Given the description of an element on the screen output the (x, y) to click on. 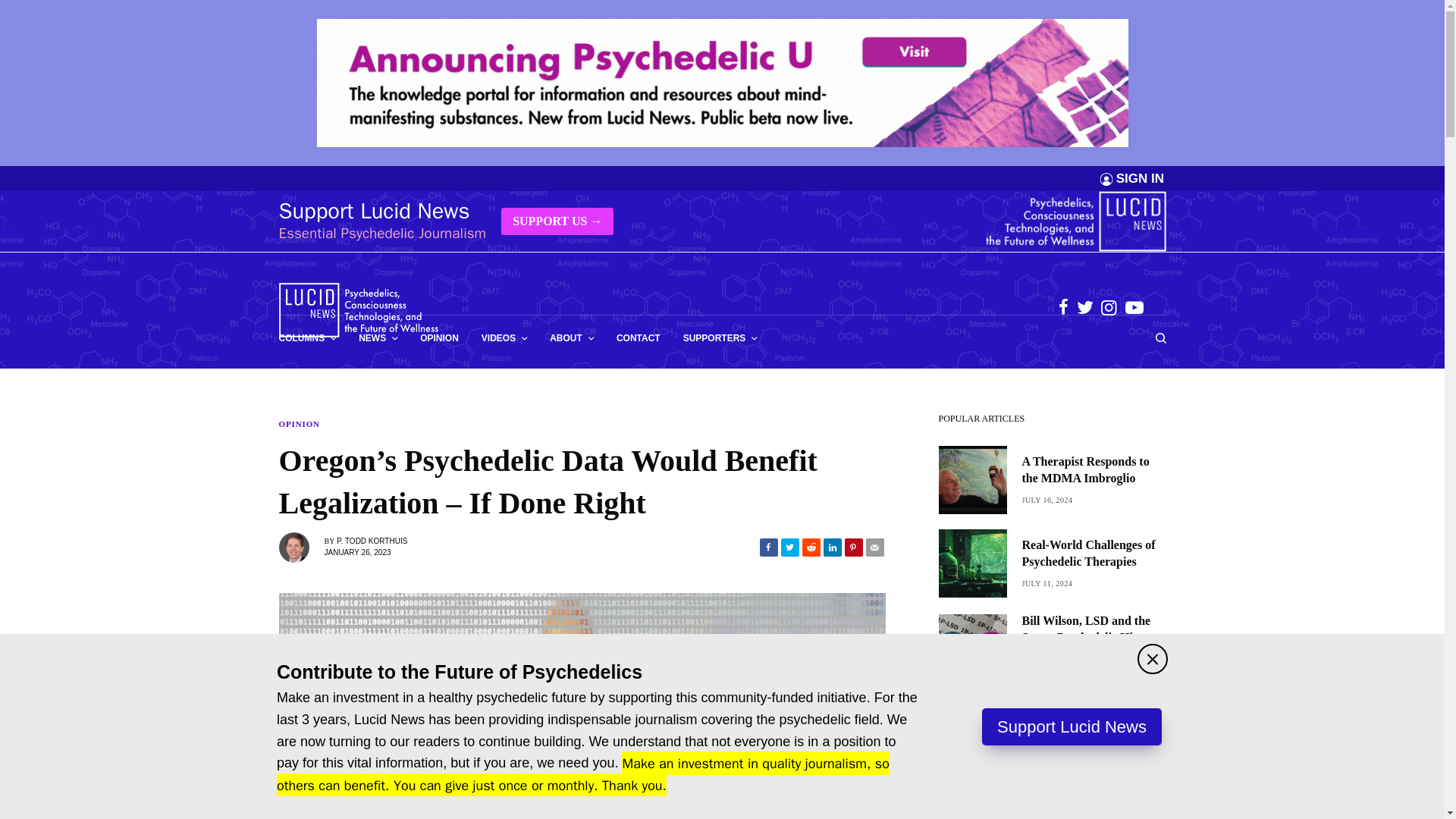
SIGN IN (1139, 178)
VIDEOS (504, 338)
COLUMNS (307, 338)
Lucid News (360, 309)
A Therapist Responds to the MDMA Imbroglio (1094, 470)
Real-World Challenges of Psychedelic Therapies (1094, 553)
ABOUT (572, 338)
Posts by P. Todd Korthuis (371, 541)
